Given the description of an element on the screen output the (x, y) to click on. 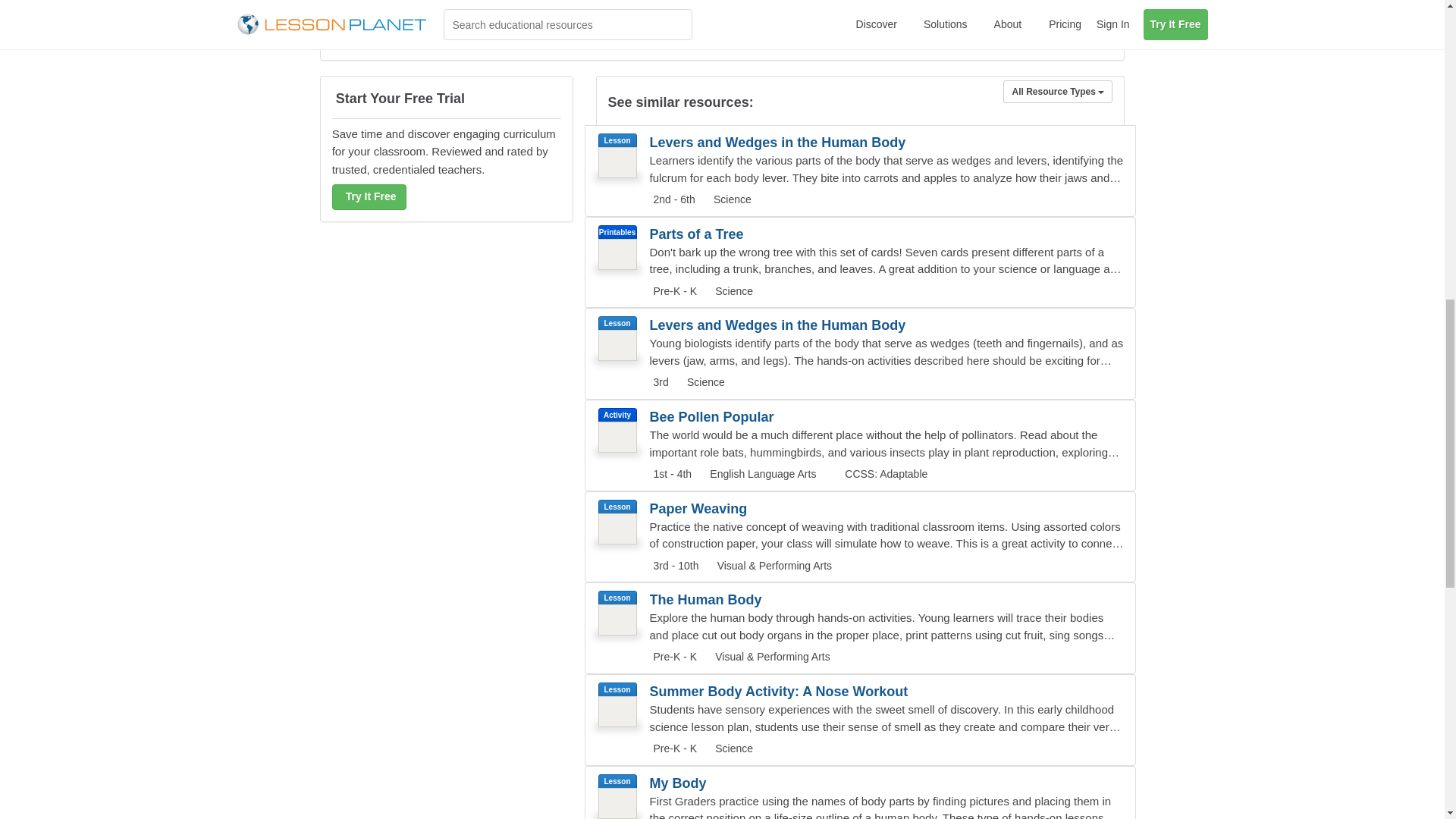
Grades (658, 382)
Parts of a Tree Printables (860, 262)
Levers and Wedges in the Human Body (781, 142)
Grades (673, 291)
Levers and Wedges in the Human Body (781, 325)
Bee Pollen Popular Activity (860, 445)
Subject (731, 291)
Subject (703, 381)
Parts of a Tree (781, 234)
Grades (672, 199)
Levers and Wedges in the Human Body Lesson plan (860, 353)
Subject (730, 199)
Levers and Wedges in the Human Body Lesson plan (860, 170)
